Given the description of an element on the screen output the (x, y) to click on. 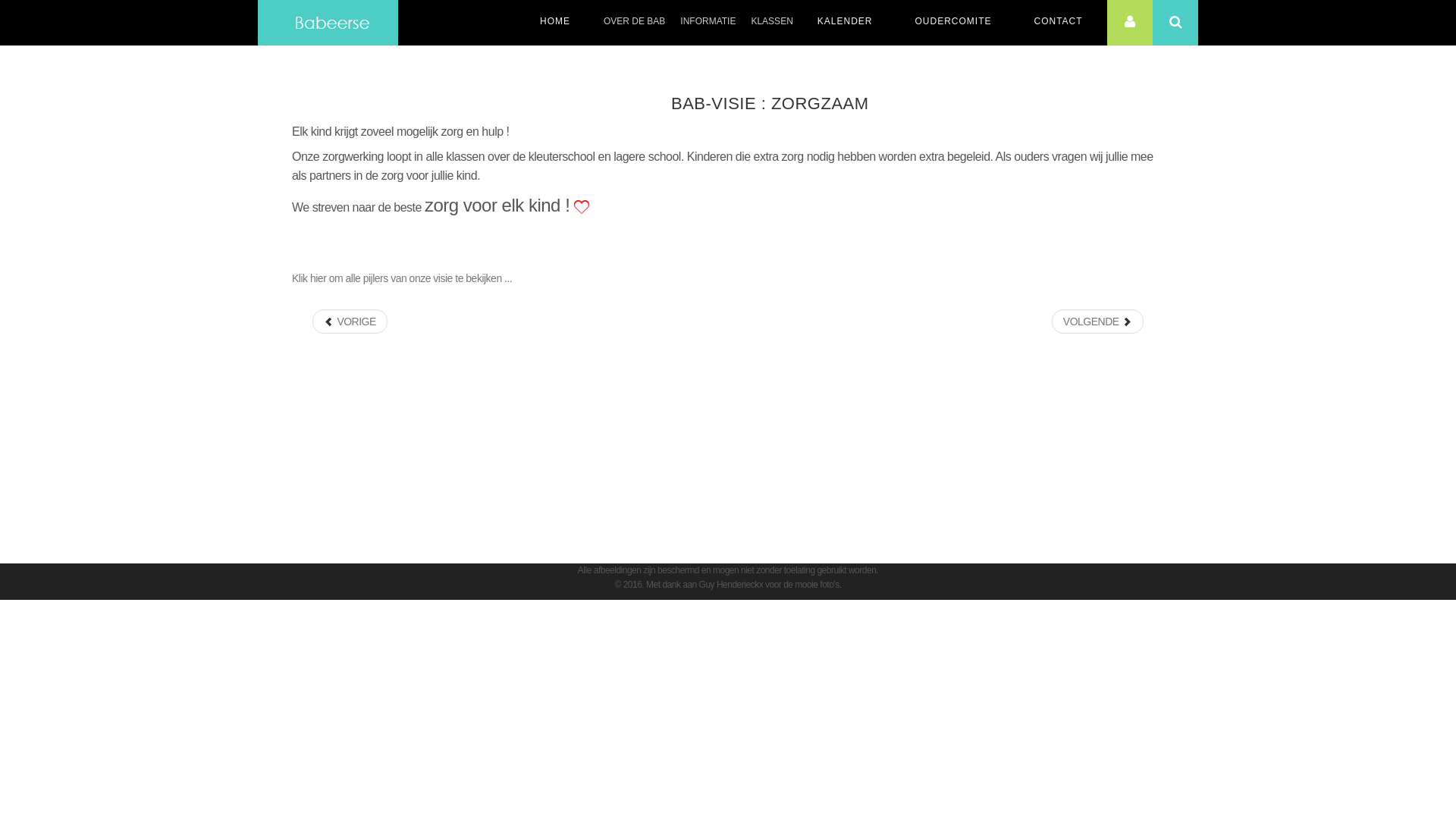
VORIGE Element type: text (349, 321)
VOLGENDE Element type: text (1097, 321)
CONTACT Element type: text (1057, 19)
Klik hier om alle pijlers van onze visie te bekijken ... Element type: text (401, 278)
Babeerse ! Mijn school, toffe school! Element type: text (327, 22)
HOME Element type: text (554, 19)
KALENDER Element type: text (844, 19)
OUDERCOMITE Element type: text (952, 19)
